Given the description of an element on the screen output the (x, y) to click on. 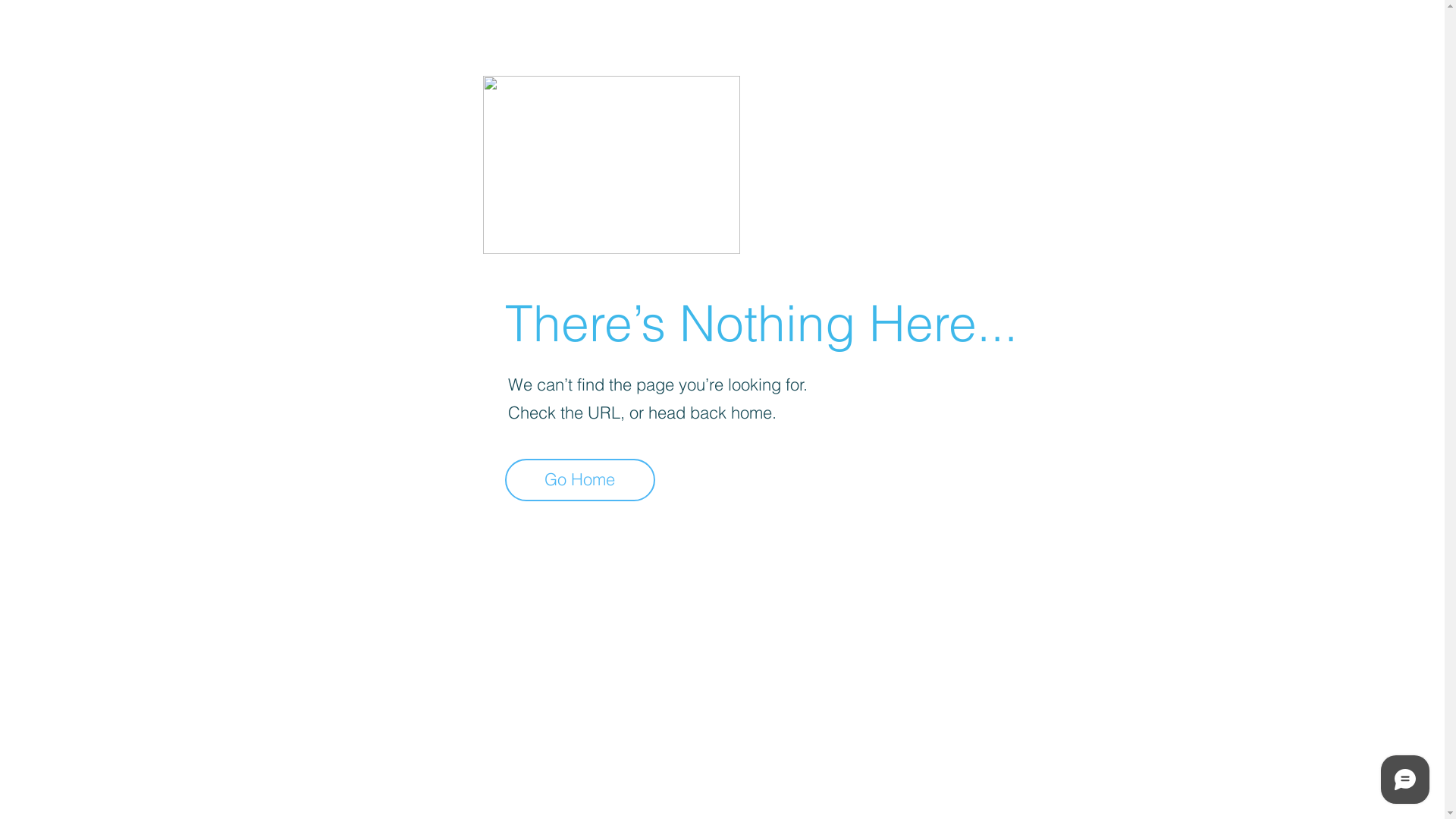
Go Home Element type: text (580, 479)
404-icon_2.png Element type: hover (610, 164)
